Given the description of an element on the screen output the (x, y) to click on. 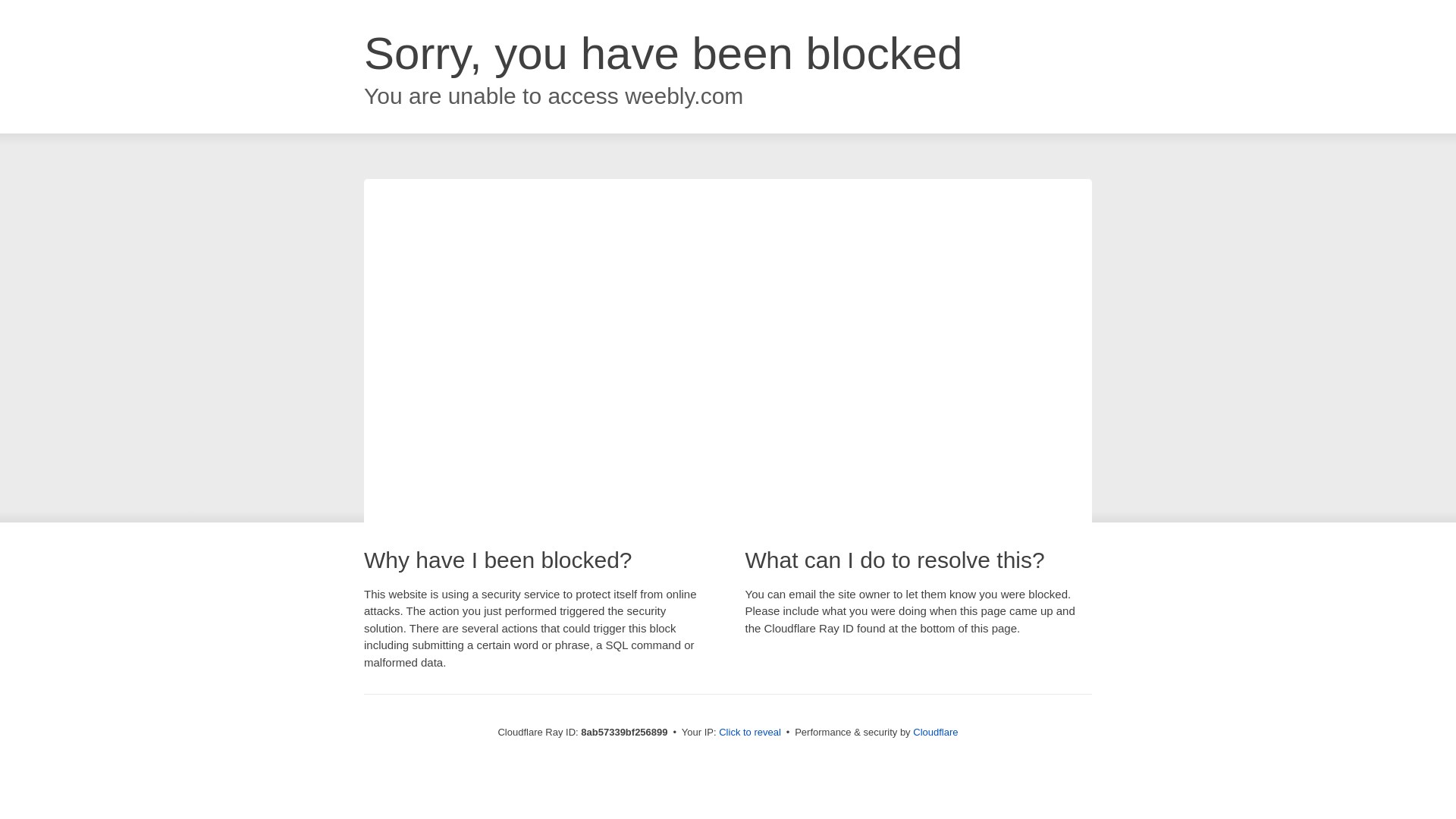
Click to reveal (749, 732)
Cloudflare (935, 731)
